Given the description of an element on the screen output the (x, y) to click on. 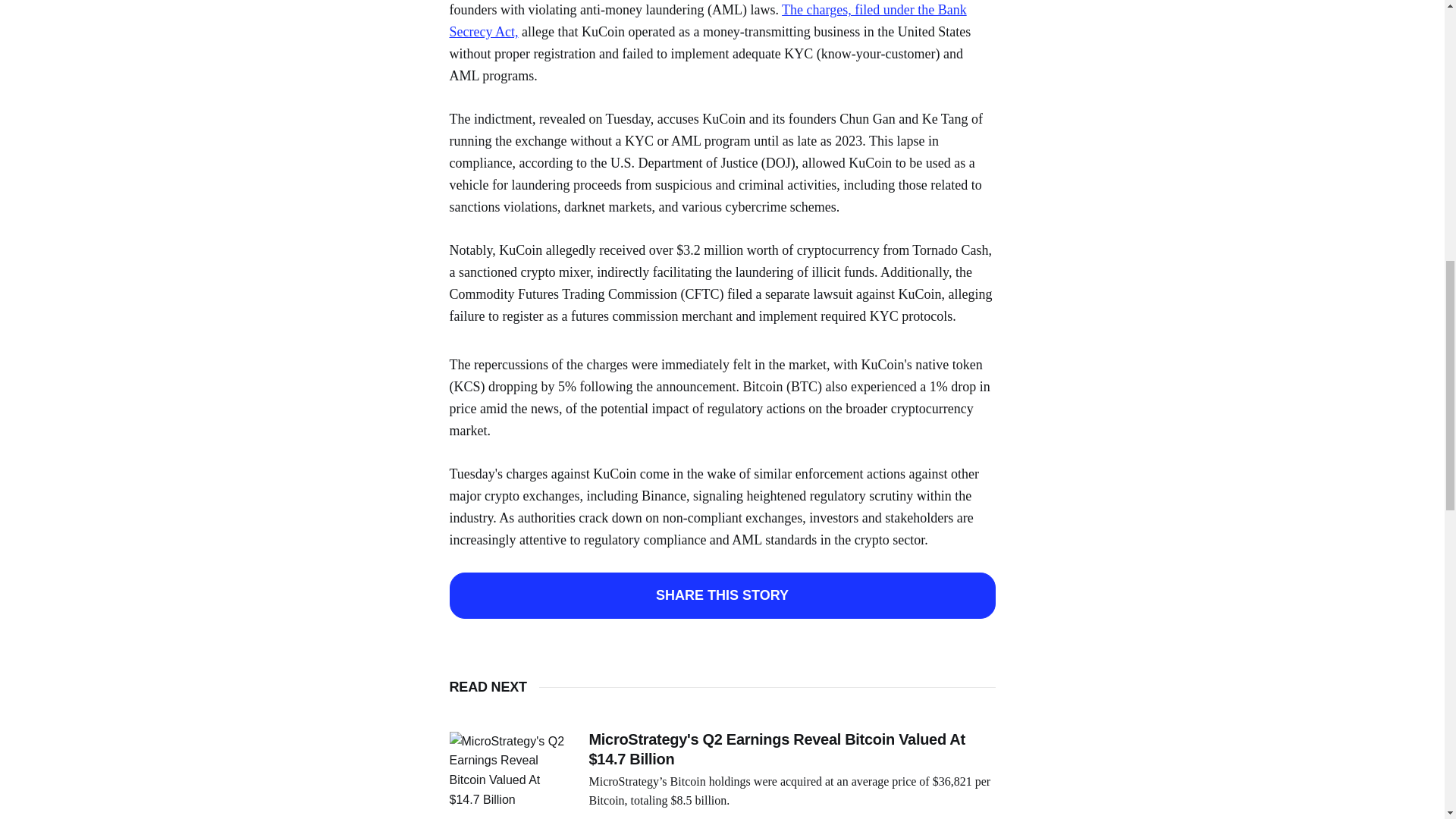
SHARE THIS STORY (721, 595)
The charges, filed under the Bank Secrecy Act, (707, 20)
